Given the description of an element on the screen output the (x, y) to click on. 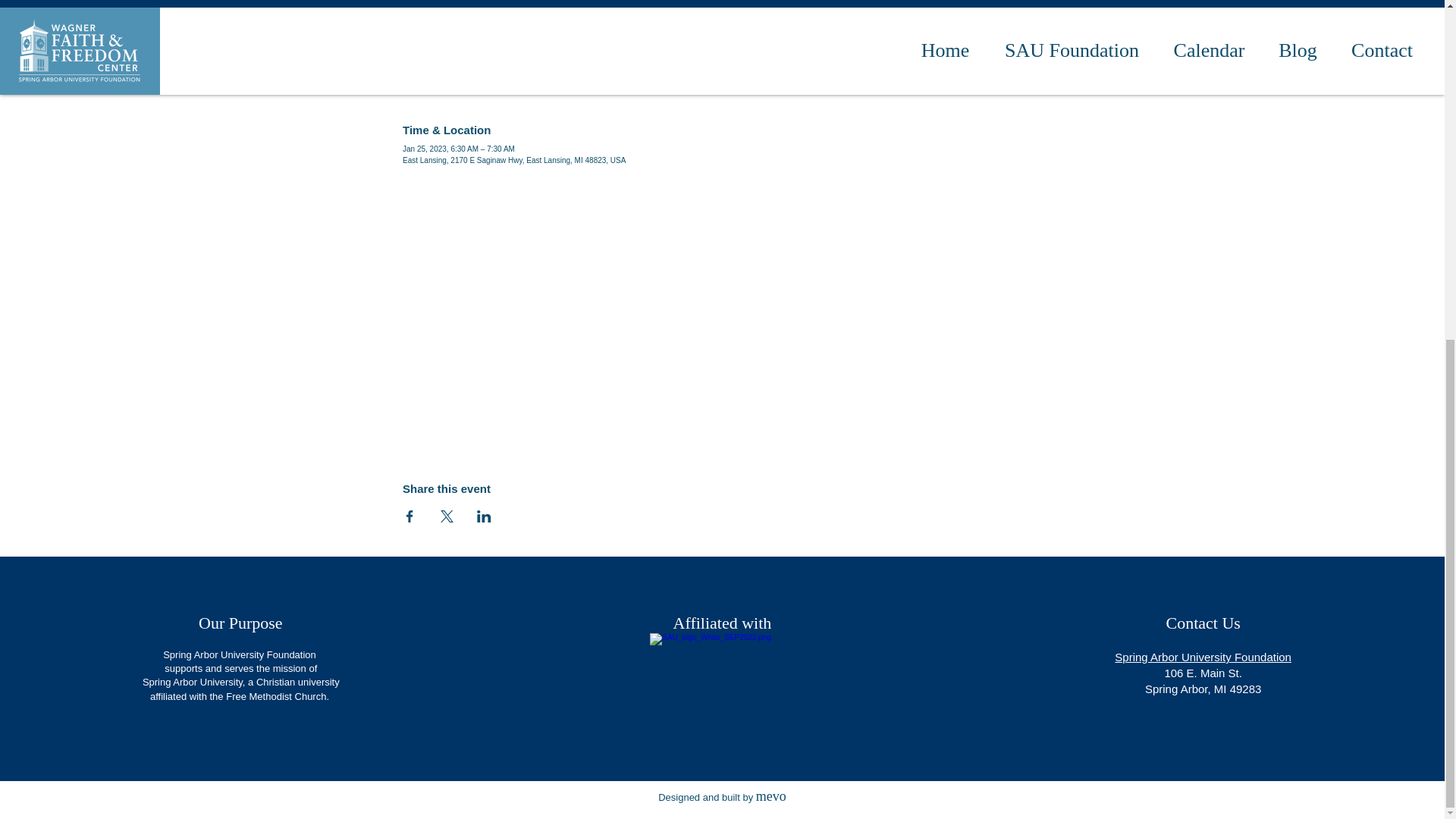
Designed and built by mevo (722, 797)
Spring Arbor University Foundation (1203, 656)
